Given the description of an element on the screen output the (x, y) to click on. 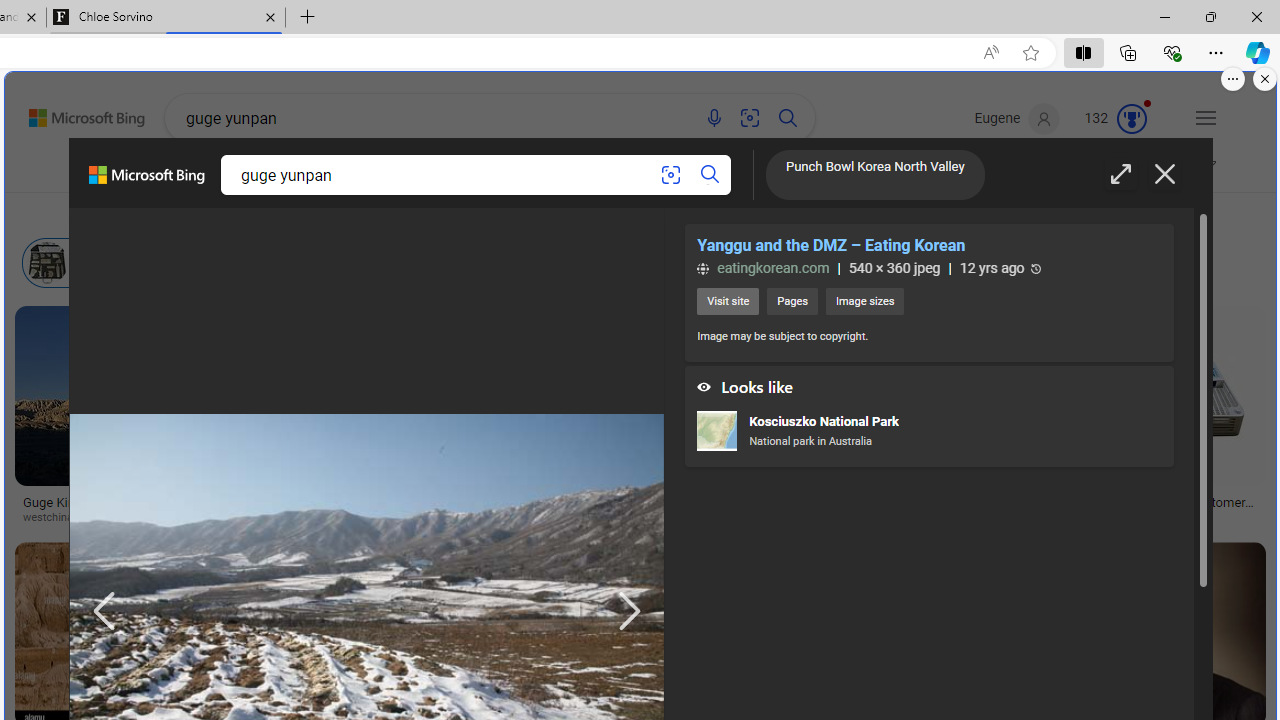
Filter (1187, 169)
SEARCH (219, 170)
License (662, 213)
Image result for guge yunpan (1182, 396)
MORE (875, 173)
Date (590, 213)
dreamstime.com (356, 517)
Class: medal-circled (1132, 118)
eatingkorean.com (762, 268)
